Given the description of an element on the screen output the (x, y) to click on. 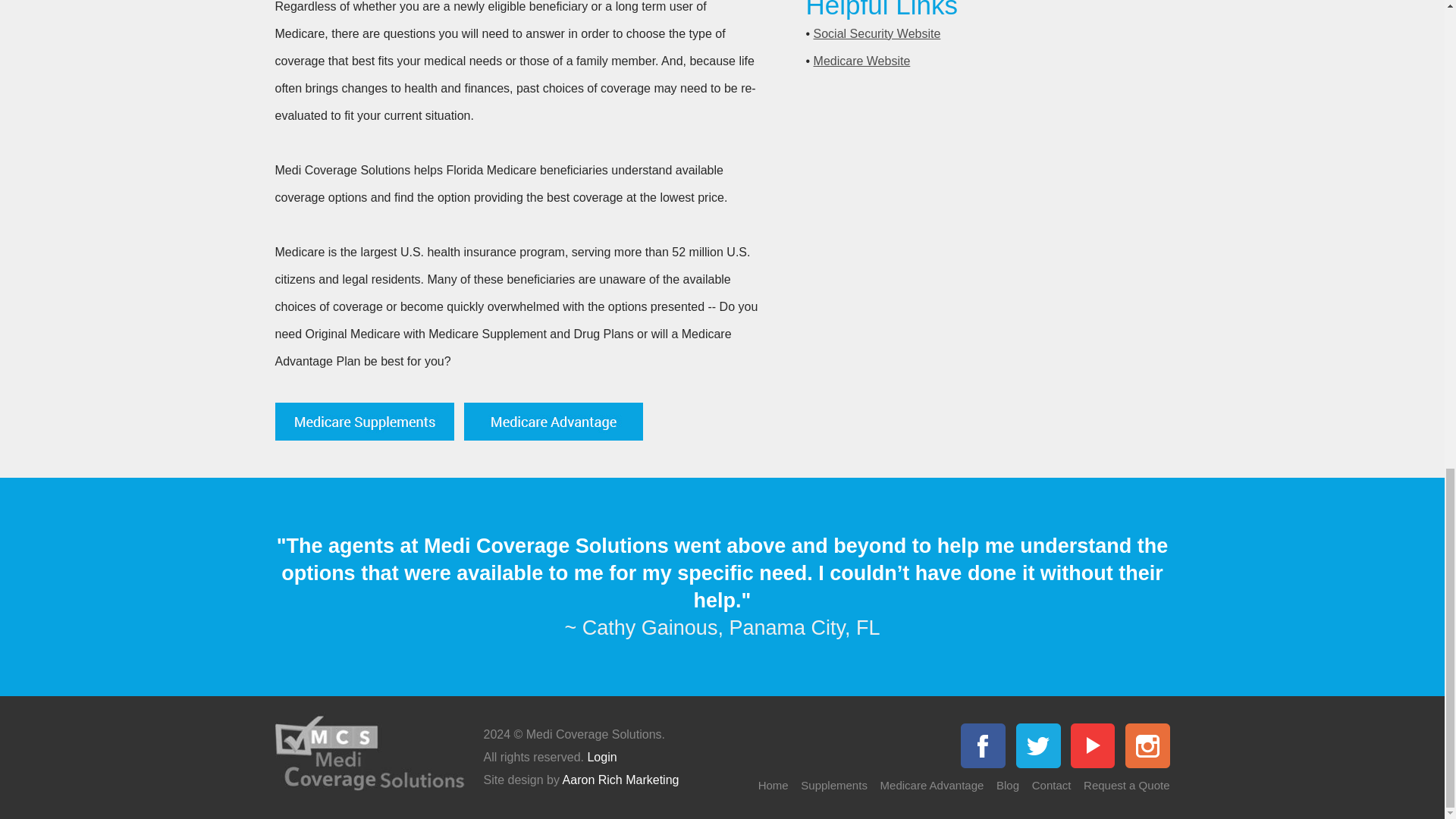
Home (773, 784)
Social Security Website (876, 33)
Login (600, 757)
Aaron Rich Marketing (620, 779)
Supplements (833, 784)
Request a Quote (1126, 784)
Blog (1007, 784)
Medicare Advantage (932, 784)
Contact (1051, 784)
Medicare Website (862, 60)
